Given the description of an element on the screen output the (x, y) to click on. 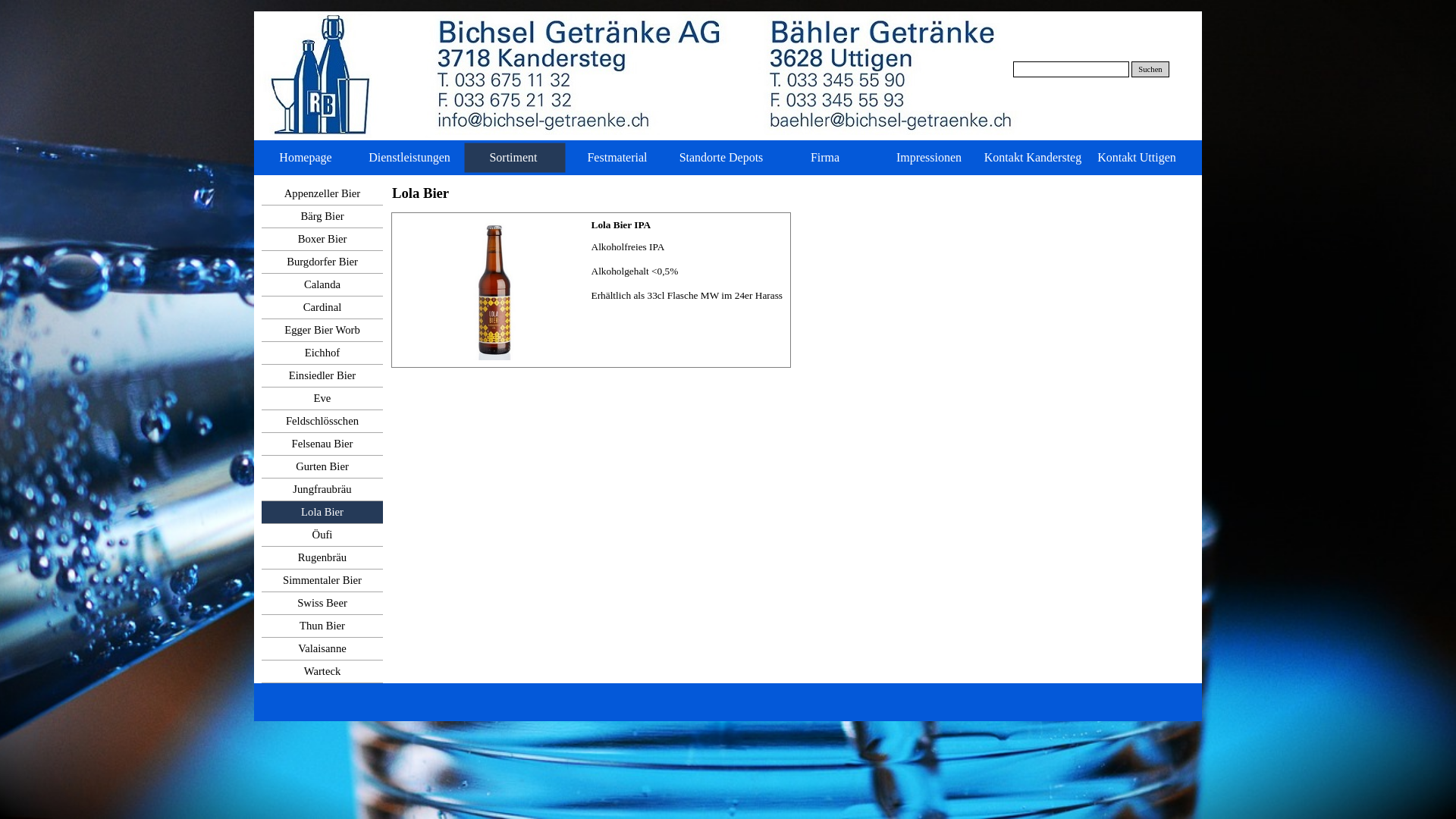
Calanda Element type: text (321, 284)
Suchen Element type: text (1150, 69)
Egger Bier Worb Element type: text (321, 330)
Eichhof Element type: text (321, 353)
Felsenau Bier Element type: text (321, 444)
Cardinal Element type: text (321, 307)
Dienstleistungen Element type: text (411, 157)
Lola Bier Element type: text (321, 512)
Homepage Element type: text (307, 157)
Gurten Bier Element type: text (321, 466)
Einsiedler Bier Element type: text (321, 375)
Valaisanne Element type: text (321, 648)
Burgdorfer Bier Element type: text (321, 262)
Thun Bier Element type: text (321, 626)
Impressionen Element type: text (930, 157)
Boxer Bier Element type: text (321, 239)
Lola Bier IPA Element type: hover (494, 289)
Standorte Depots Element type: text (722, 157)
Simmentaler Bier Element type: text (321, 580)
Eve Element type: text (321, 398)
Kontakt Uttigen Element type: text (1138, 157)
Appenzeller Bier Element type: text (321, 193)
Swiss Beer Element type: text (321, 603)
Warteck Element type: text (321, 671)
Festmaterial Element type: text (618, 157)
Kontakt Kandersteg Element type: text (1034, 157)
